Given the description of an element on the screen output the (x, y) to click on. 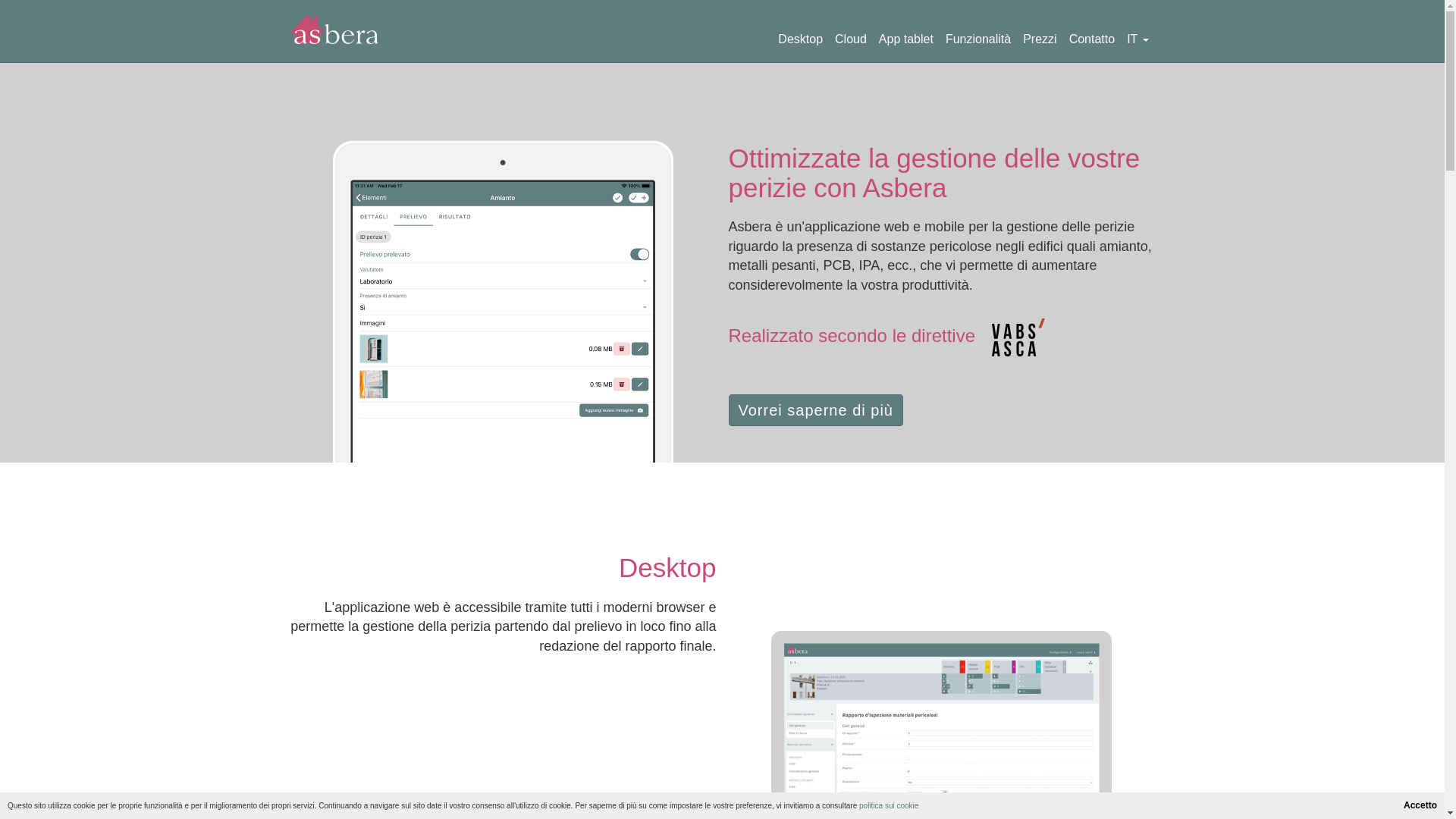
Contatto Element type: text (1091, 33)
Accetto Element type: text (1420, 805)
Cloud Element type: text (850, 33)
Prezzi Element type: text (1039, 33)
politica sui cookie Element type: text (888, 805)
Desktop Element type: text (799, 33)
App tablet Element type: text (905, 33)
IT Element type: text (1137, 33)
